Given the description of an element on the screen output the (x, y) to click on. 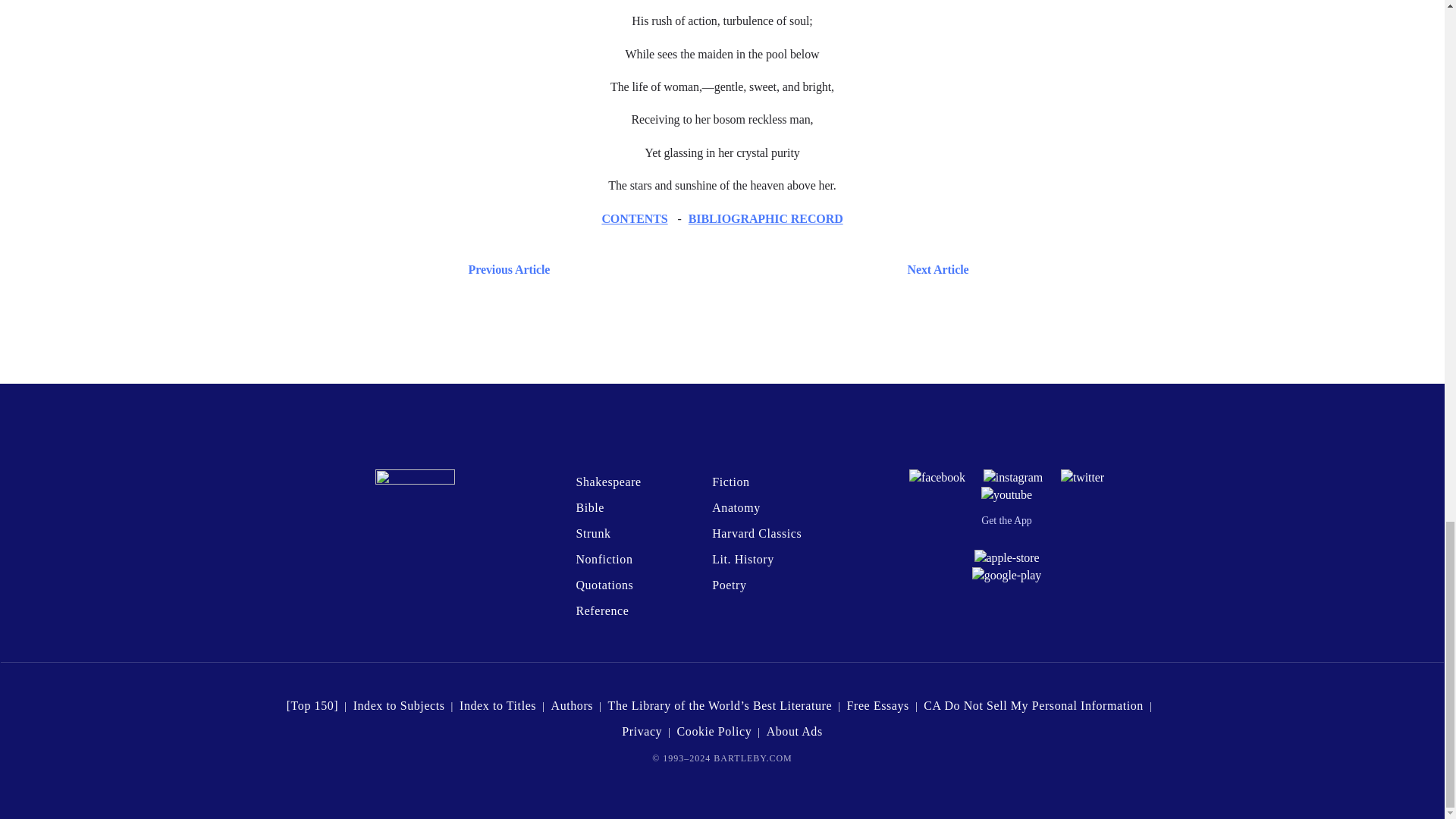
Next Article (766, 269)
Strunk (592, 533)
Harvard Classics (756, 533)
Poetry (728, 584)
Shakespeare (607, 481)
Fiction (730, 481)
Quotations (604, 584)
Nonfiction (603, 558)
Anatomy (735, 507)
Previous Article (505, 269)
